Given the description of an element on the screen output the (x, y) to click on. 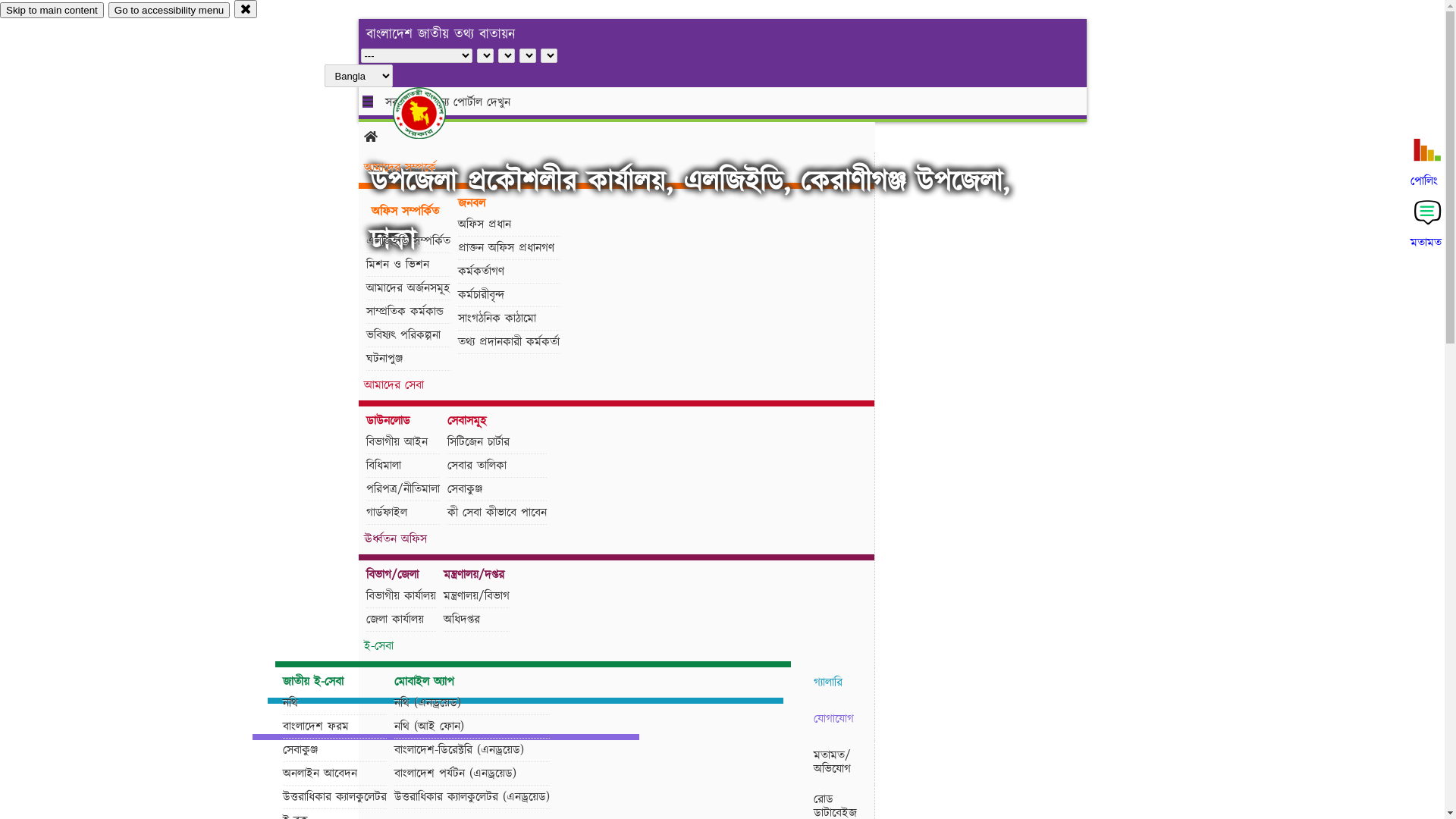
close Element type: hover (245, 9)
Go to accessibility menu Element type: text (168, 10)

                
             Element type: hover (431, 112)
Skip to main content Element type: text (51, 10)
